Given the description of an element on the screen output the (x, y) to click on. 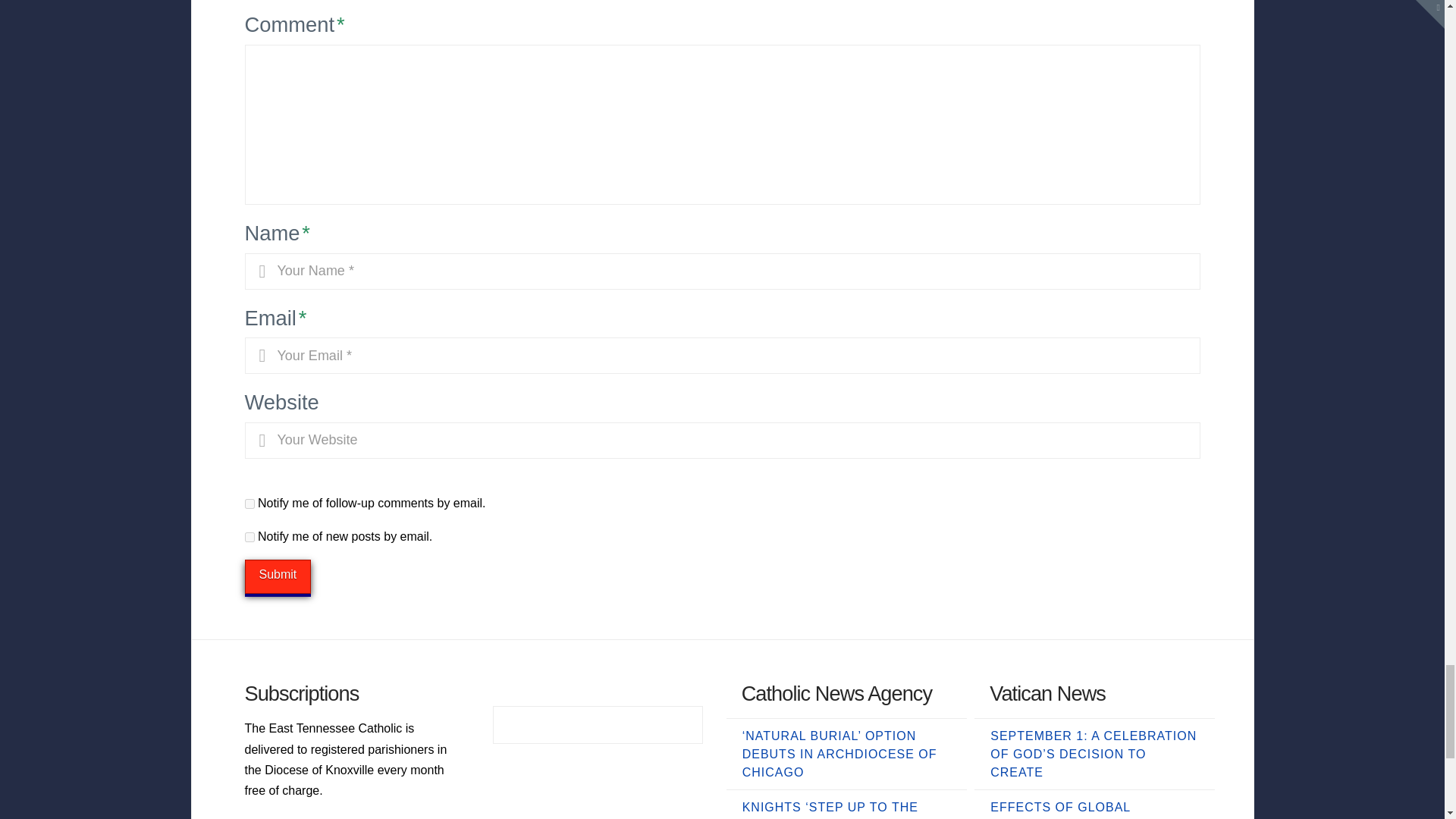
subscribe (248, 537)
subscribe (248, 503)
Submit (277, 576)
